Given the description of an element on the screen output the (x, y) to click on. 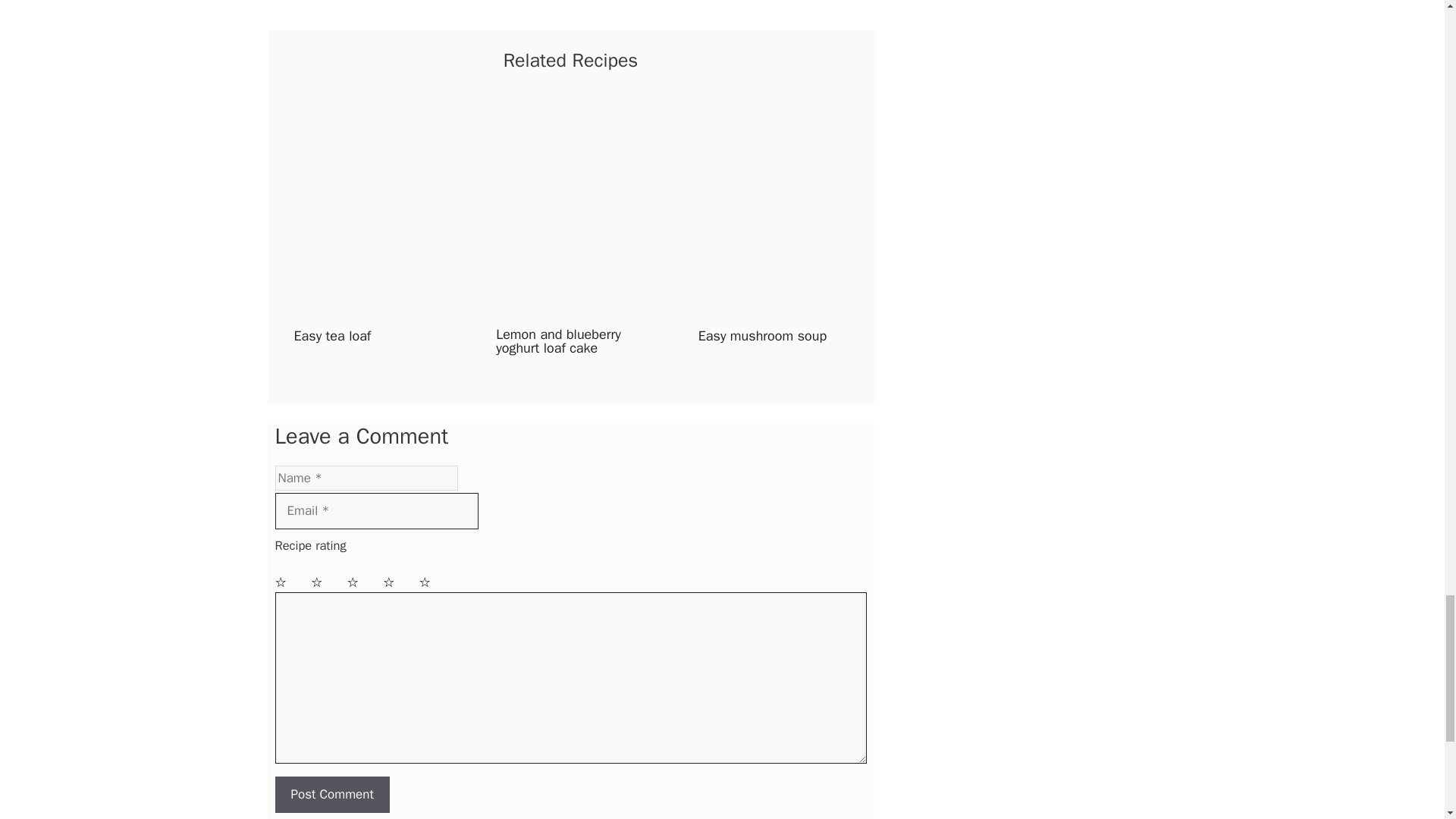
Post Comment (331, 794)
